Given the description of an element on the screen output the (x, y) to click on. 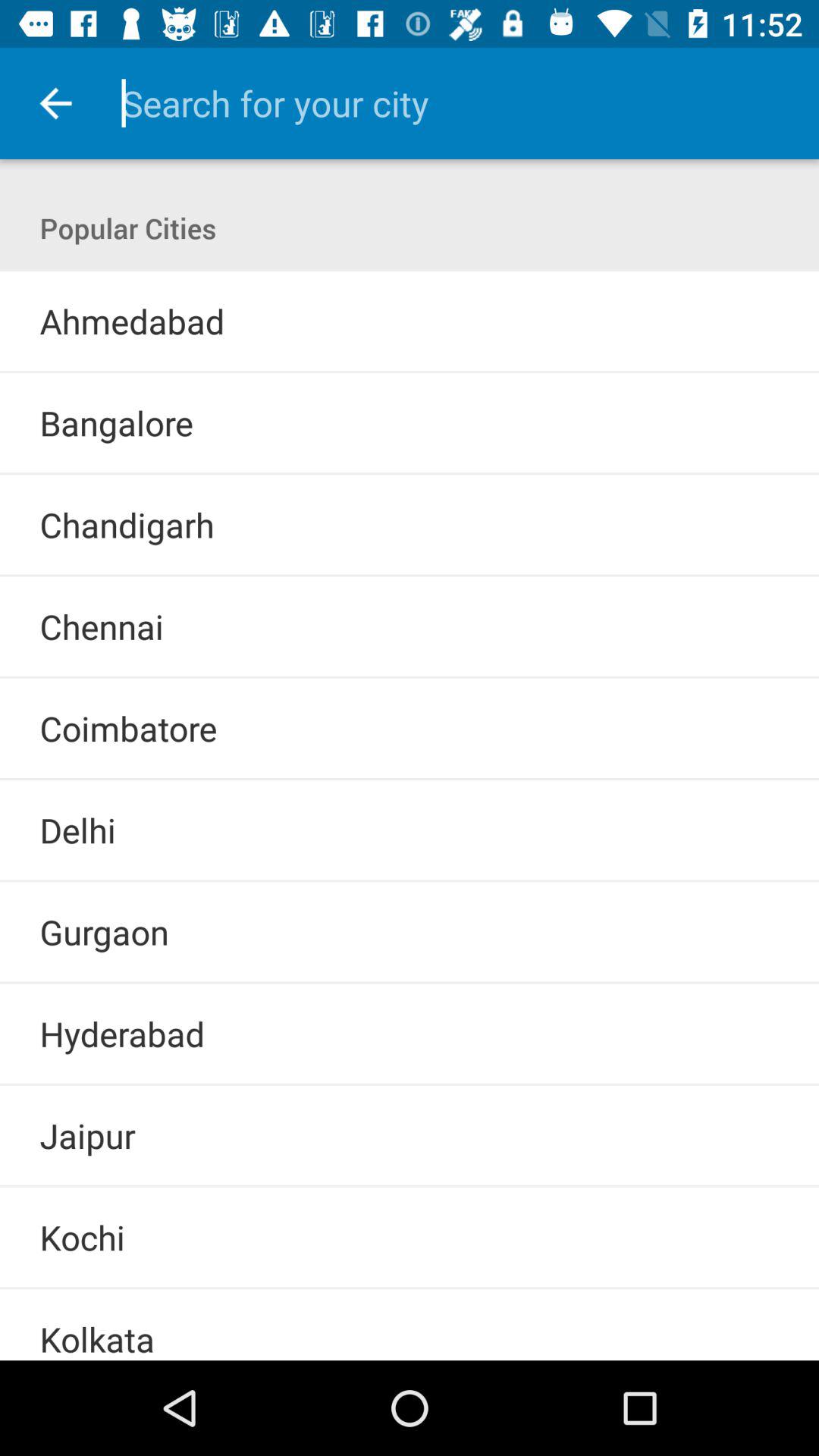
search for your city (449, 102)
